Given the description of an element on the screen output the (x, y) to click on. 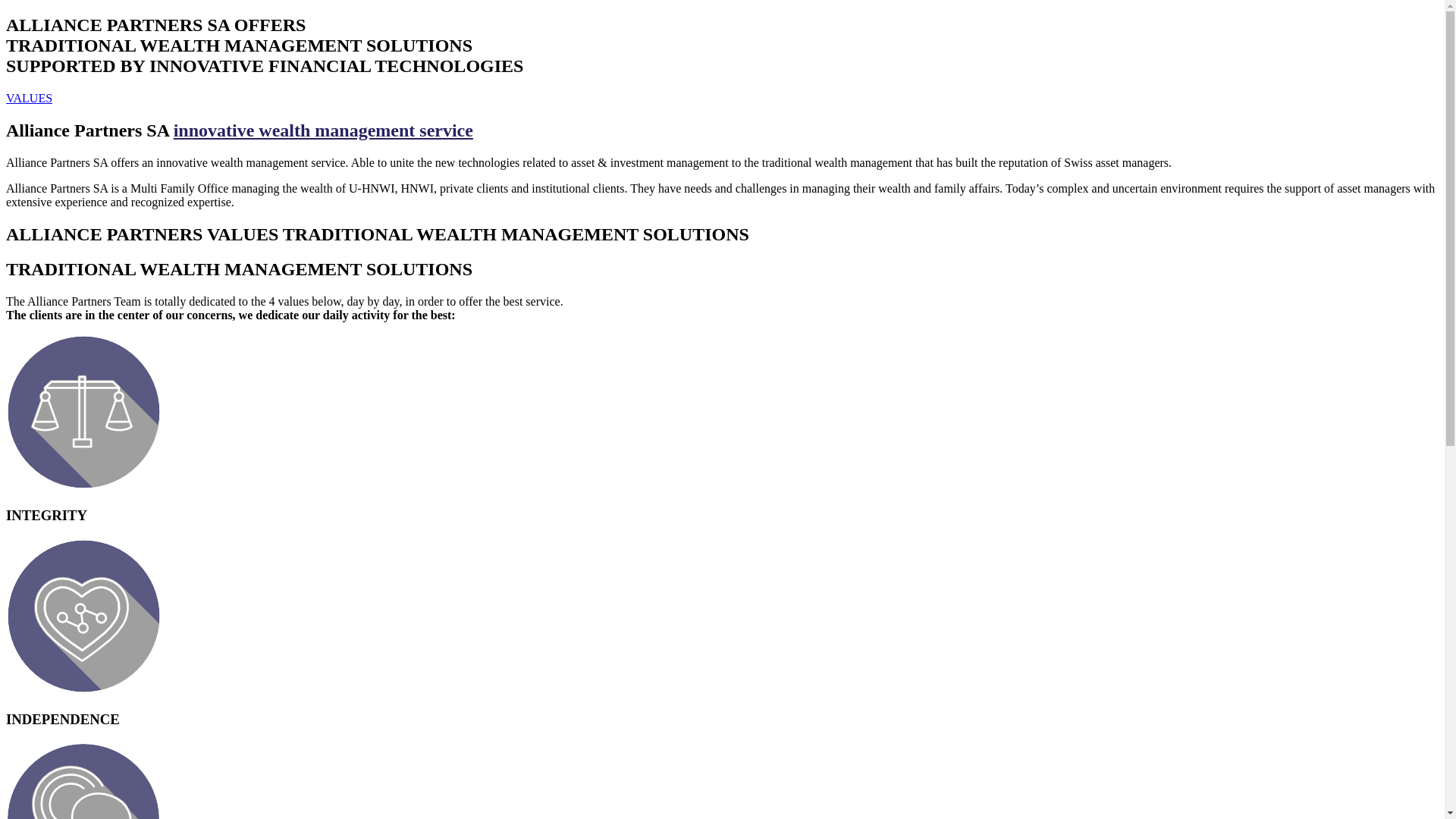
innovative wealth management service Element type: text (323, 130)
ap_independece_ico Element type: hover (83, 615)
ap_integrity_ico Element type: hover (83, 411)
VALUES Element type: text (29, 97)
